Given the description of an element on the screen output the (x, y) to click on. 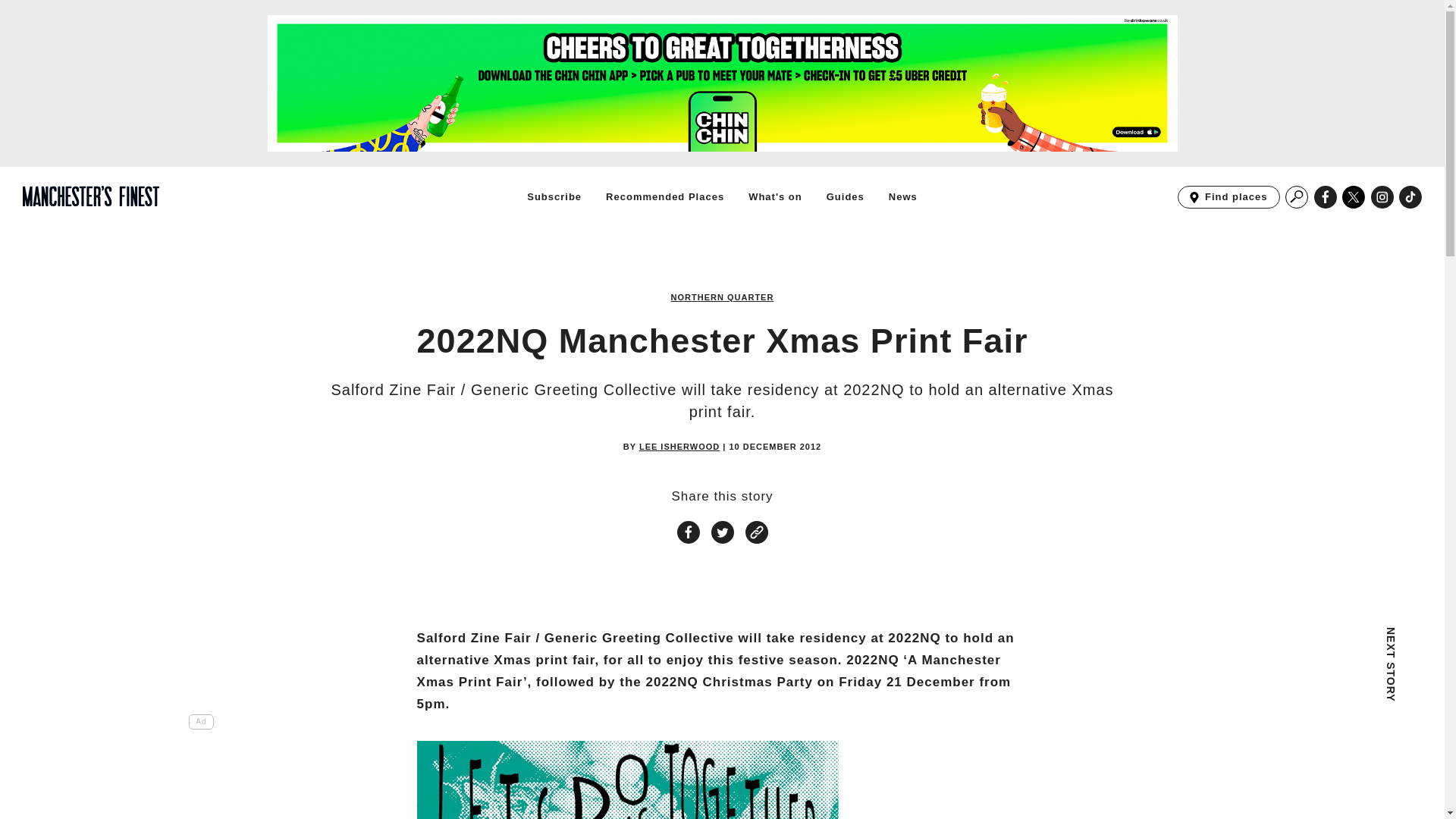
Go to Manchester's Finest Facebook page (1325, 196)
News (902, 196)
Go to Manchester's Finest TikTok profile (1410, 196)
Go to Manchester's Finest X profile (1353, 196)
Go to Manchester's Finest Instagram profile (1382, 196)
NORTHERN QUARTER (722, 297)
Search Manchester's Finest (1228, 196)
NEXT STORY (1296, 196)
Recommended Places (1297, 710)
Guides (664, 196)
2022NQ-Christmas (845, 196)
LEE ISHERWOOD (627, 779)
Go to Manchester's Finest Instagram profile (679, 446)
Subscribe (1382, 196)
